Given the description of an element on the screen output the (x, y) to click on. 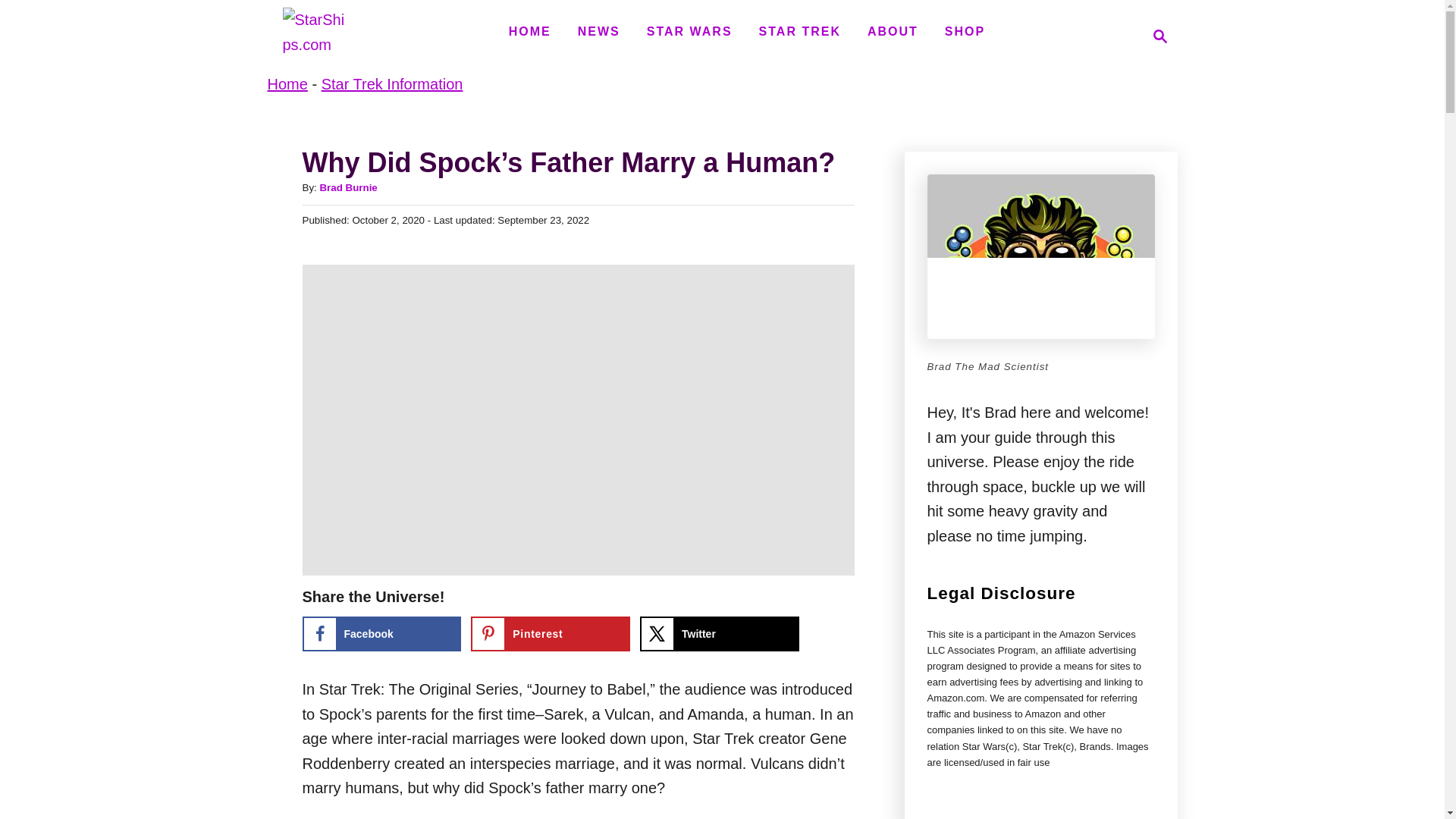
Pinterest (550, 633)
ABOUT (893, 31)
Save to Pinterest (550, 633)
Twitter (719, 633)
STAR WARS (689, 31)
HOME (529, 31)
Star Trek Information (392, 84)
Brad Burnie (1155, 36)
Share on X (347, 187)
Home (719, 633)
STAR TREK (286, 84)
Share on Facebook (799, 31)
StarShips.com (381, 633)
SHOP (314, 35)
